Given the description of an element on the screen output the (x, y) to click on. 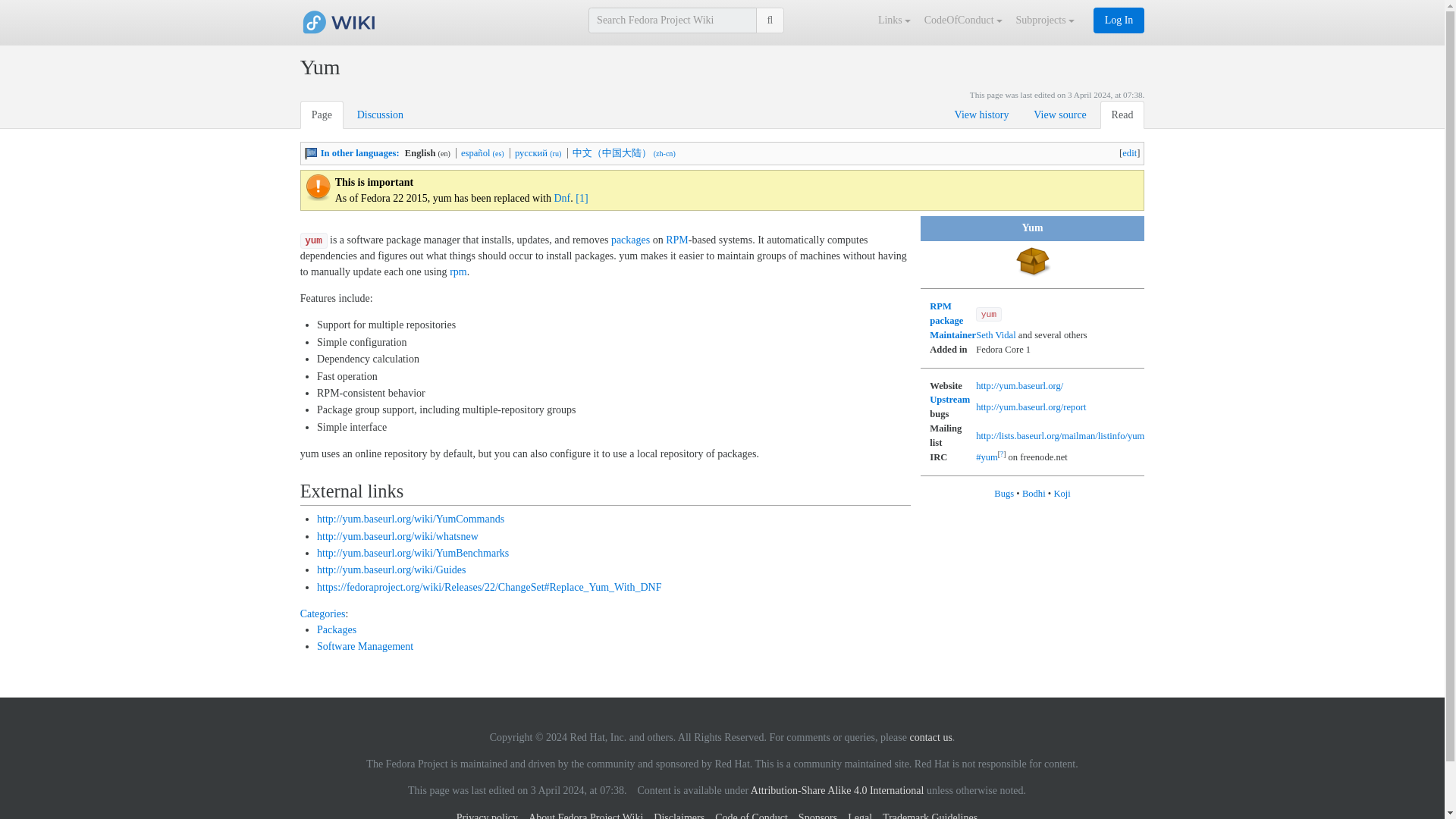
View source (1059, 114)
Discussion (380, 114)
In other languages: (359, 153)
Links (895, 19)
Read (1122, 114)
Fedora Project Wiki:Translating (359, 153)
Package maintainer (952, 335)
Category:Packages (336, 629)
Fedora Project Wiki:Translating (310, 153)
Log In (1118, 20)
